Given the description of an element on the screen output the (x, y) to click on. 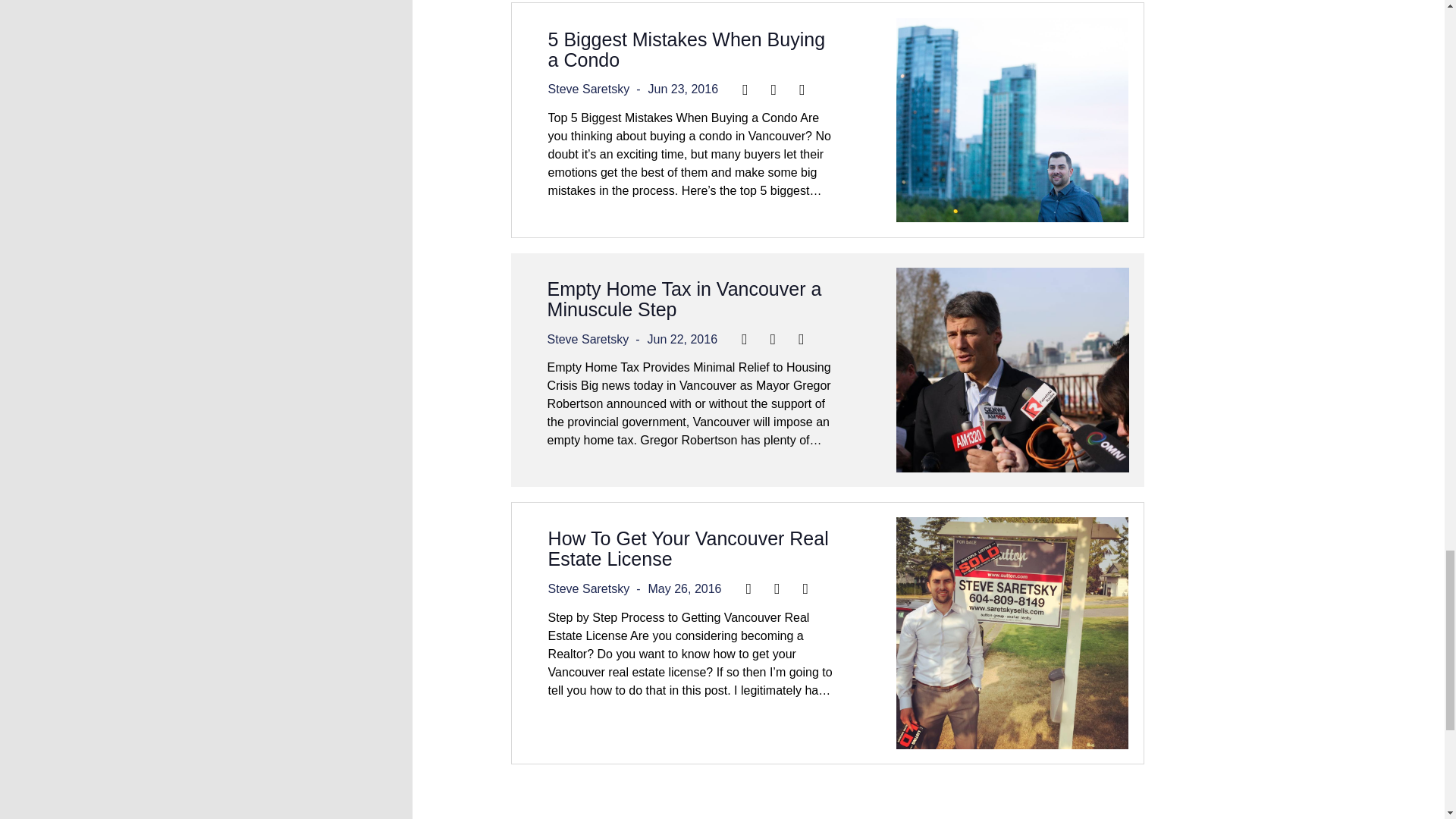
Empty Home Tax in Vancouver a Minuscule Step (684, 299)
5 Biggest Mistakes When Buying a Condo (686, 49)
How To Get Your Vancouver Real Estate License (688, 548)
